Given the description of an element on the screen output the (x, y) to click on. 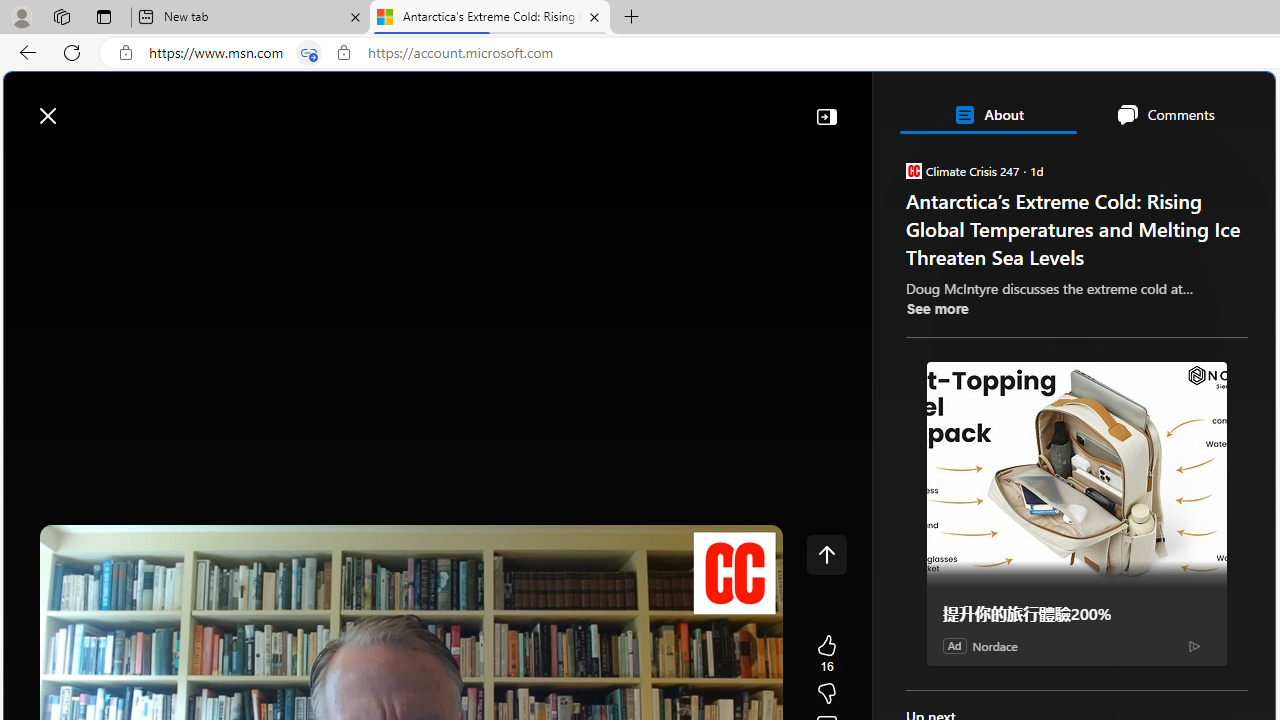
Tabs in split screen (308, 53)
Skip to footer (82, 105)
The Associated Press (974, 645)
Collapse (826, 115)
16 Like (826, 653)
